Given the description of an element on the screen output the (x, y) to click on. 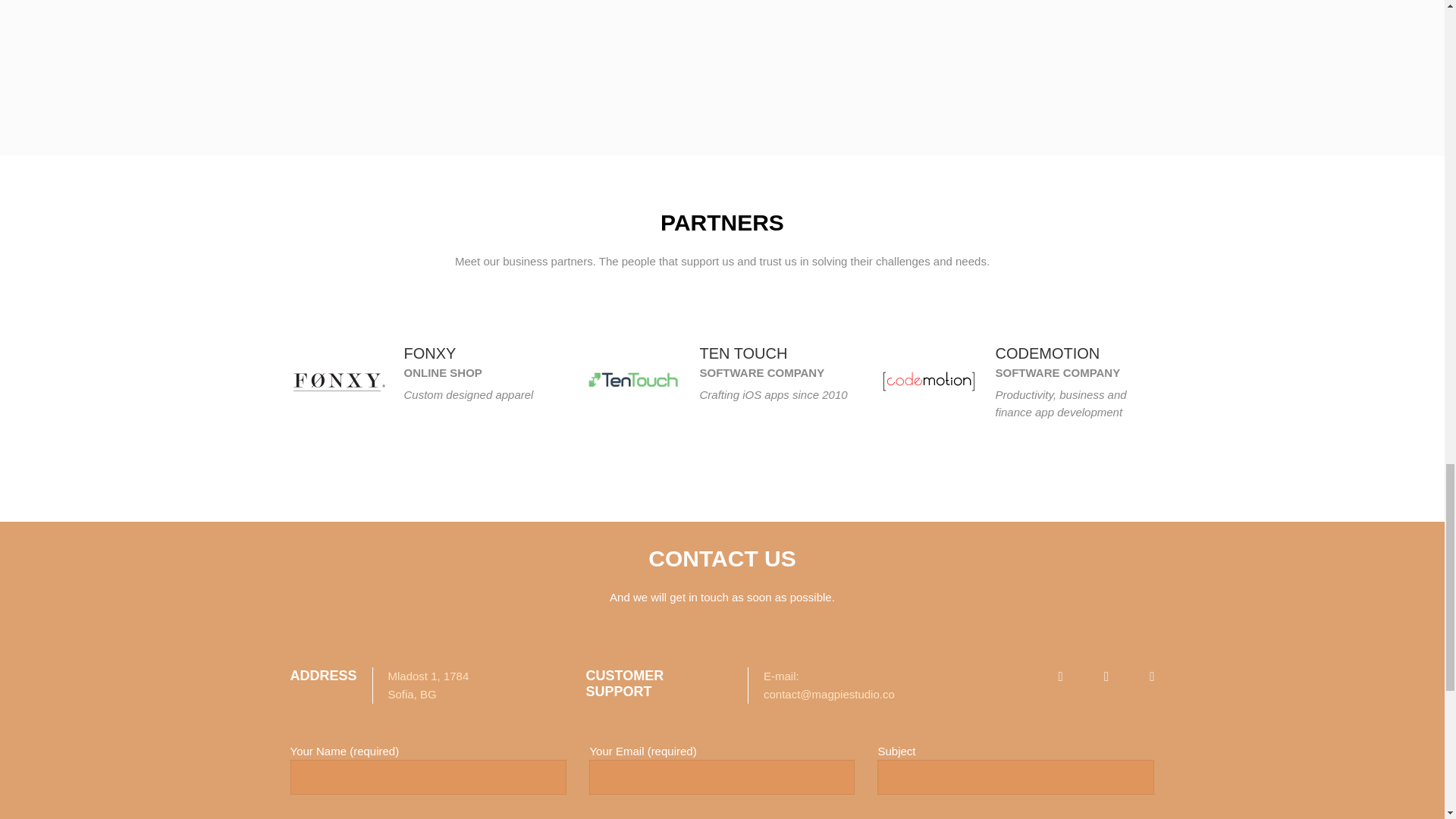
Ten Touch (632, 381)
Twitter (731, 420)
LinkedIn (459, 420)
Fonxy (336, 381)
Facebook (411, 420)
Facebook (707, 420)
MusiCharts - Your music diary (541, 79)
LinkedIn (756, 420)
Grafio, Vidra, Word Escape, Find Yourself for Ten Touch Apps (902, 79)
Fonxy for Fonxy.com (180, 79)
Twitter (436, 420)
Codemotion (927, 381)
